Given the description of an element on the screen output the (x, y) to click on. 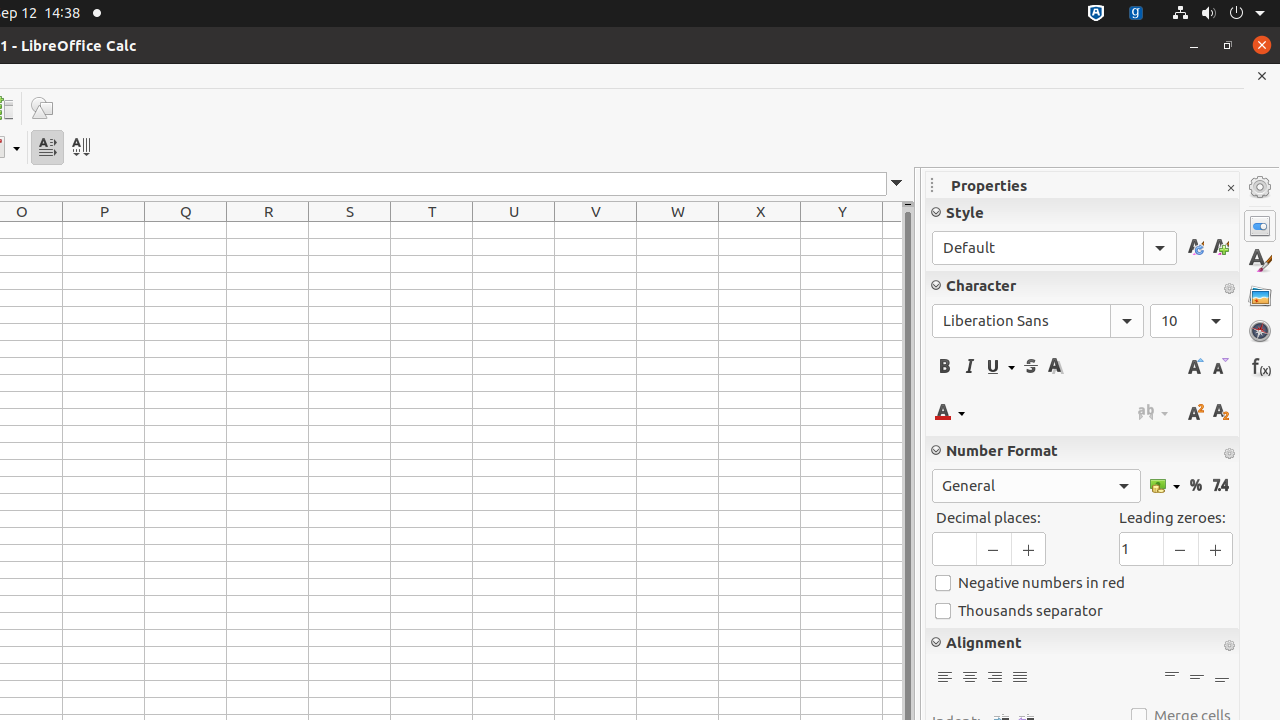
Number Element type: toggle-button (1220, 485)
Y1 Element type: table-cell (842, 230)
Category Element type: combo-box (1036, 486)
Subscript Element type: push-button (1220, 412)
